Given the description of an element on the screen output the (x, y) to click on. 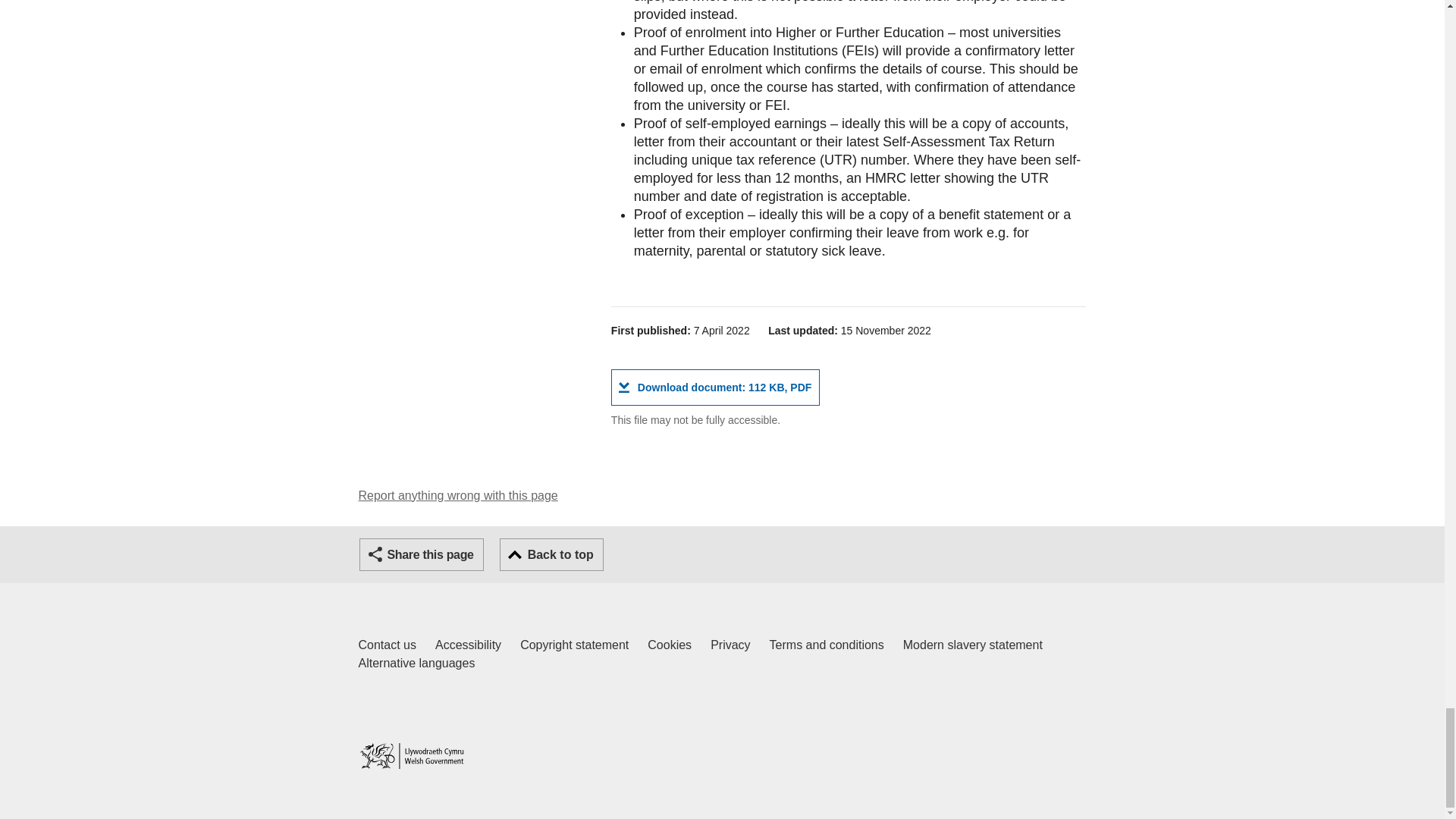
Accessibility (715, 387)
Cookies (467, 645)
Terms and conditions (669, 645)
Back to top (826, 645)
Copyright statement (551, 554)
Report anything wrong with this page (573, 645)
Privacy (457, 495)
Share this page (729, 645)
